Given the description of an element on the screen output the (x, y) to click on. 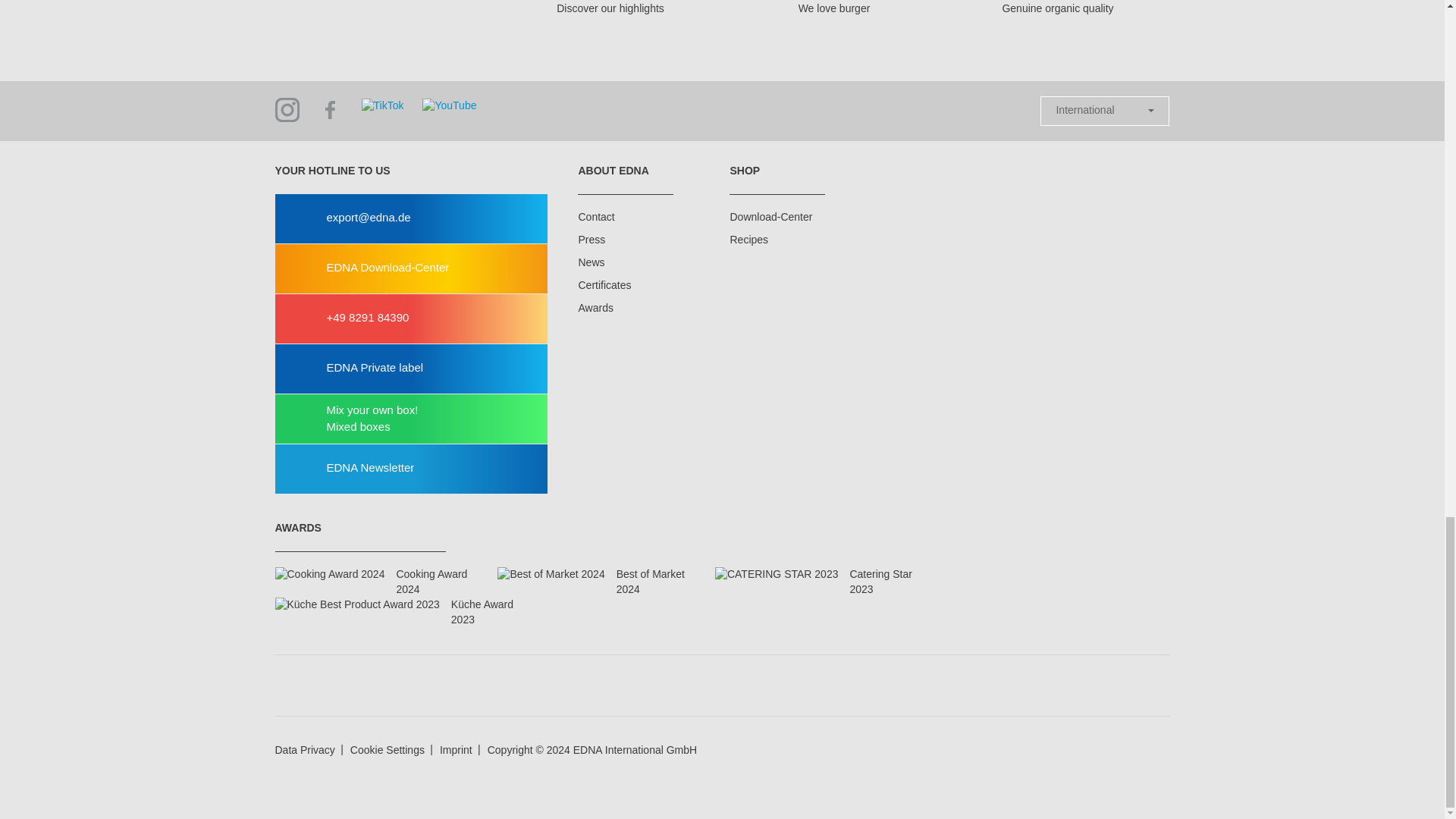
EDNA Highlights (610, 22)
TikTok (382, 104)
YouTube (449, 104)
Instagram (286, 109)
EDNA Organic (1058, 22)
Facebook (330, 109)
